Given the description of an element on the screen output the (x, y) to click on. 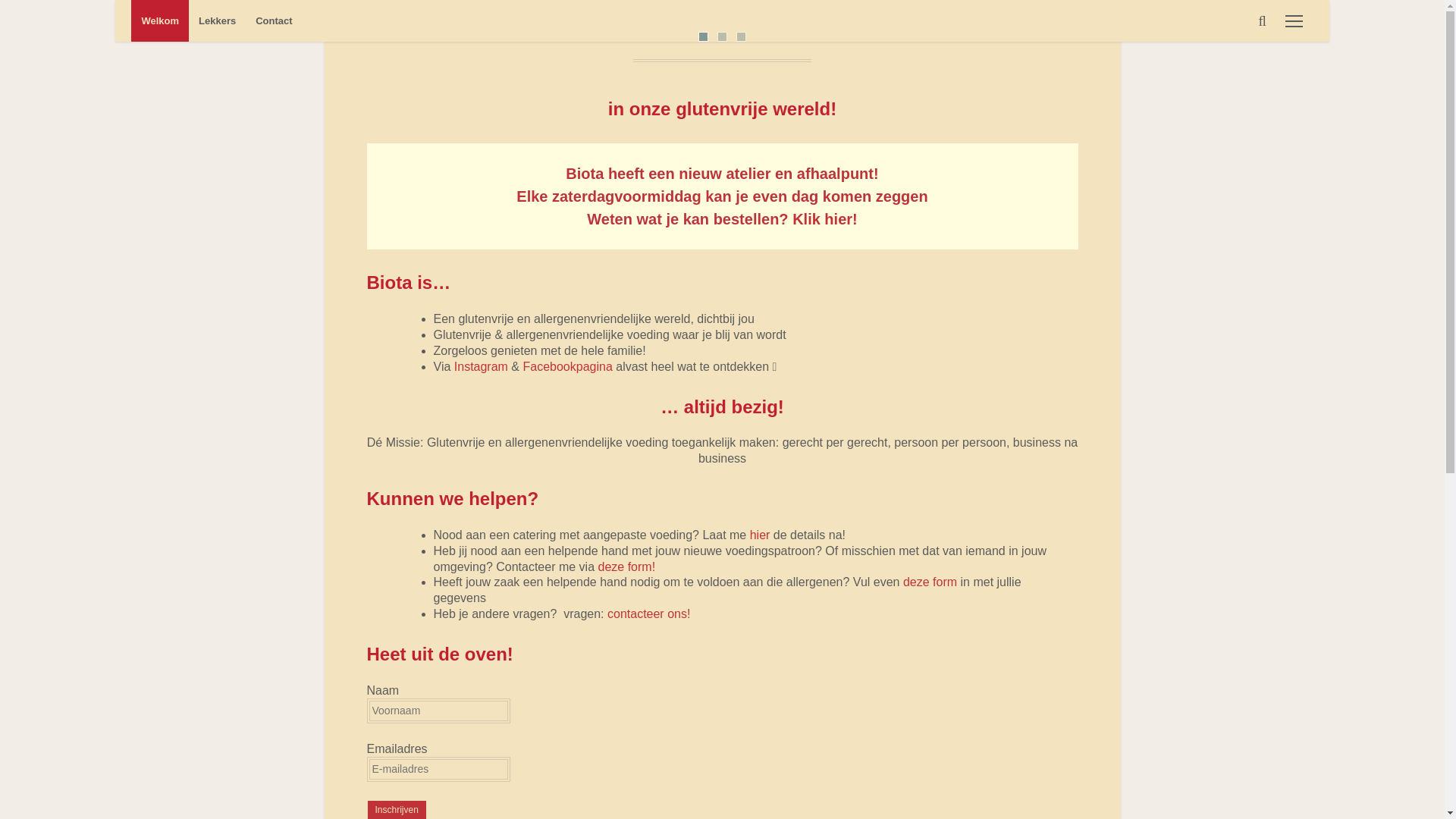
deze form!  Element type: text (627, 566)
Lekkers Element type: text (216, 20)
Contact Element type: text (273, 20)
deze form Element type: text (930, 581)
Klik hier! Element type: text (824, 218)
contacteer ons! Element type: text (648, 613)
hier Element type: text (759, 534)
Welkom Element type: text (159, 20)
Instagram Element type: text (481, 366)
Facebookpagina Element type: text (566, 366)
